Given the description of an element on the screen output the (x, y) to click on. 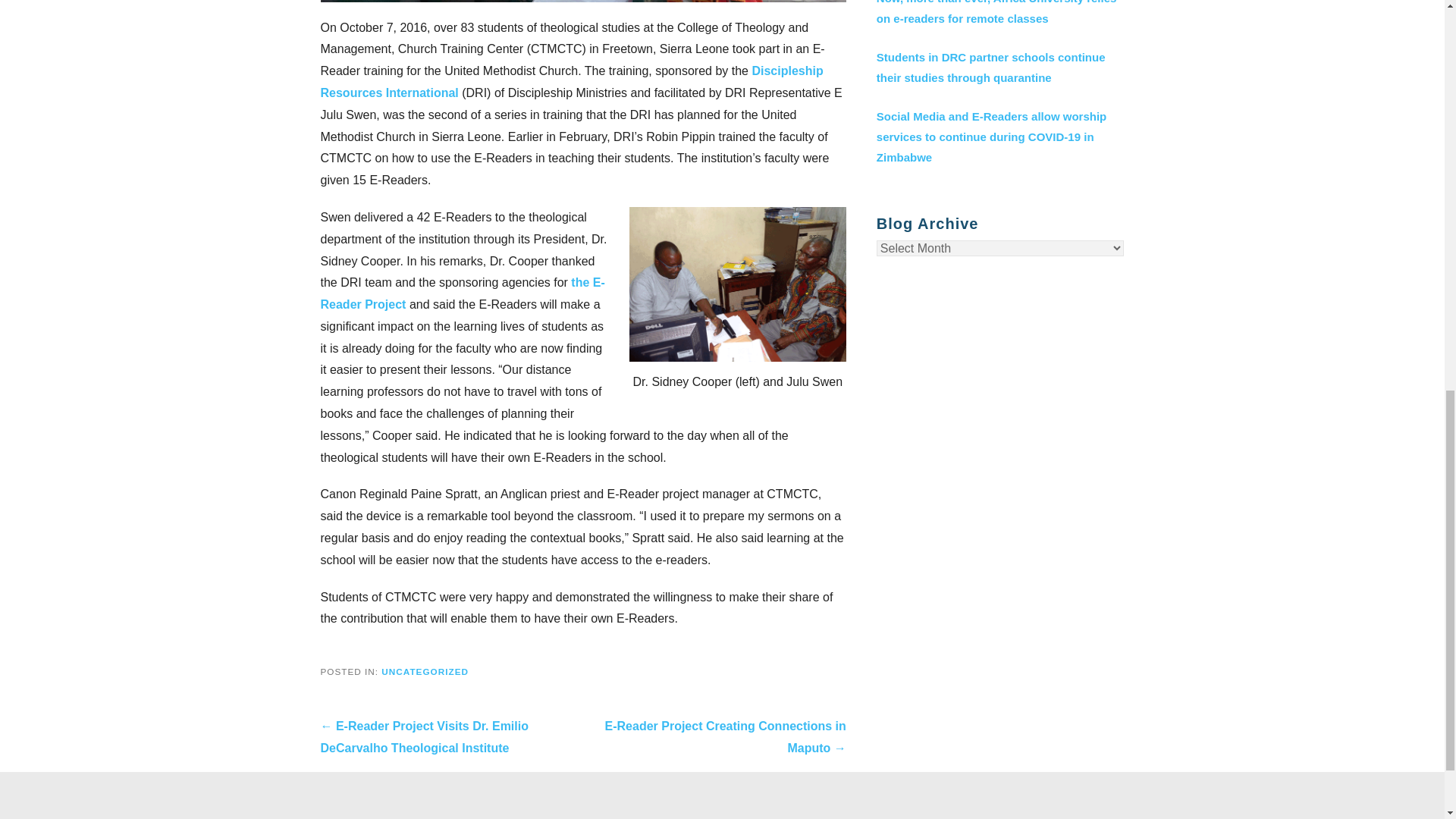
Discipleship Resources International (571, 81)
the E-Reader Project (462, 293)
UNCATEGORIZED (424, 671)
